Given the description of an element on the screen output the (x, y) to click on. 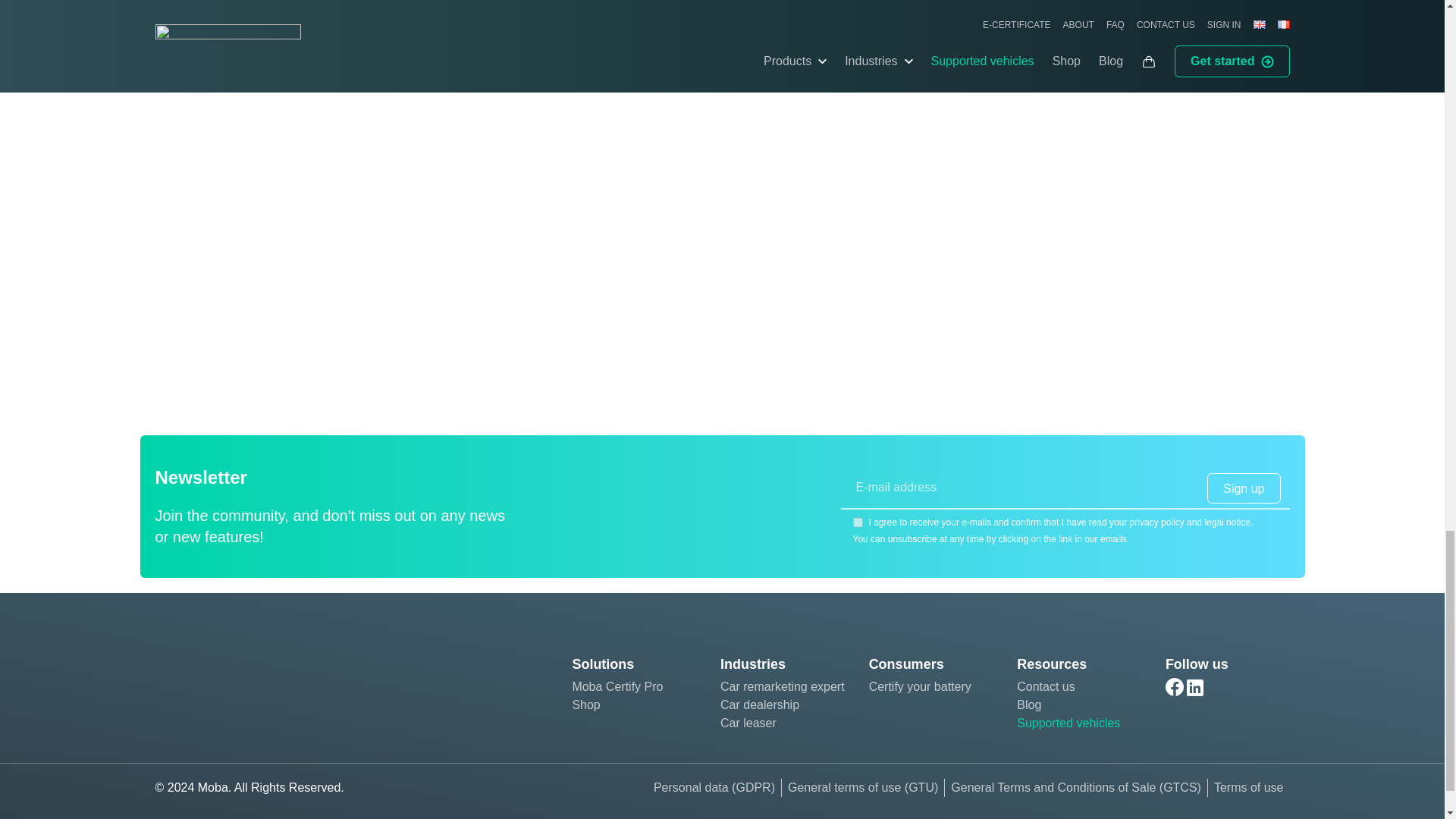
Car dealership (782, 705)
Certify your battery (930, 687)
Moba Certify Pro (633, 687)
Shop (633, 705)
Car remarketing expert (782, 687)
Sign up (1243, 488)
Car leaser (782, 723)
